Given the description of an element on the screen output the (x, y) to click on. 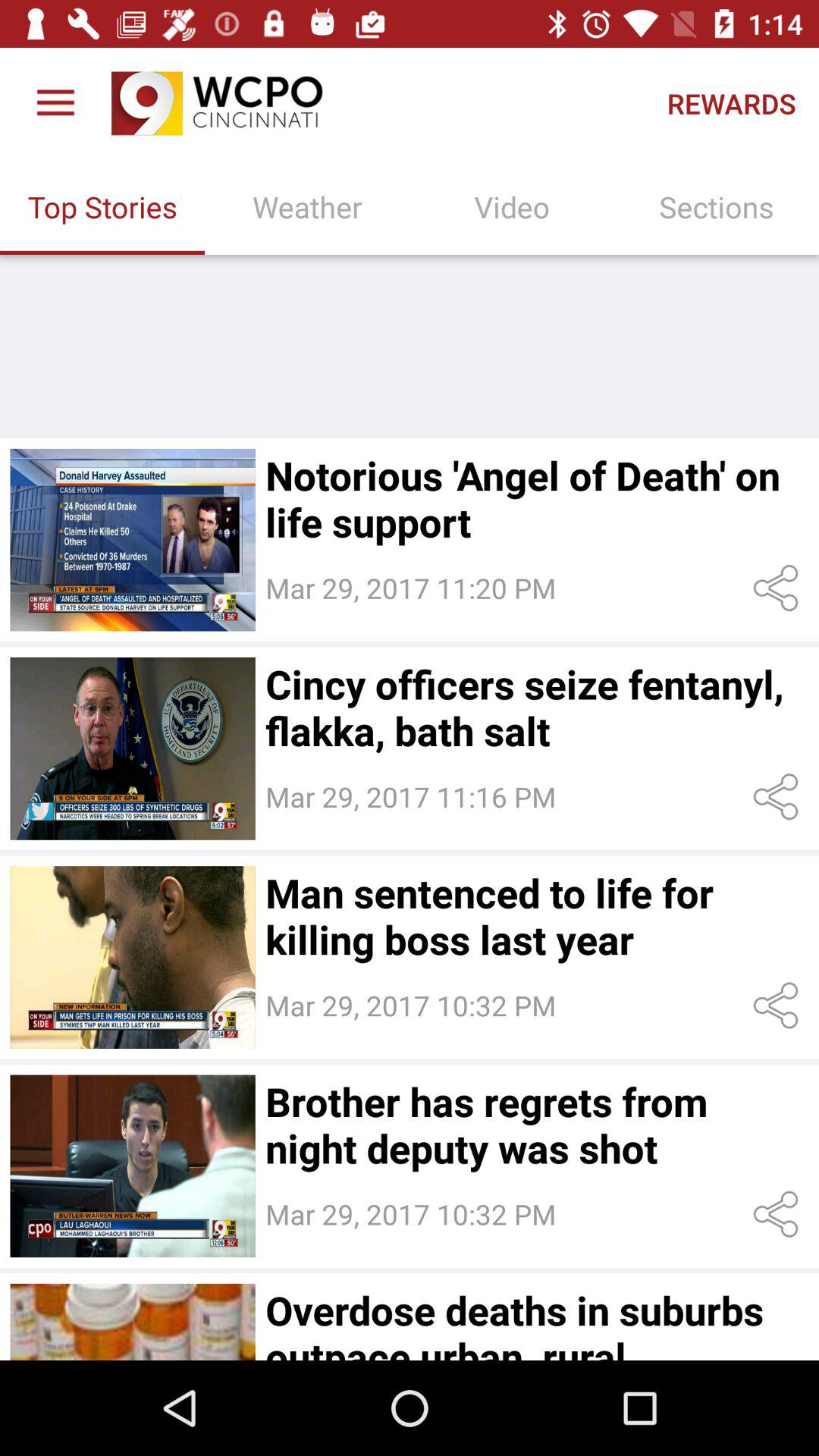
image shows (132, 957)
